Given the description of an element on the screen output the (x, y) to click on. 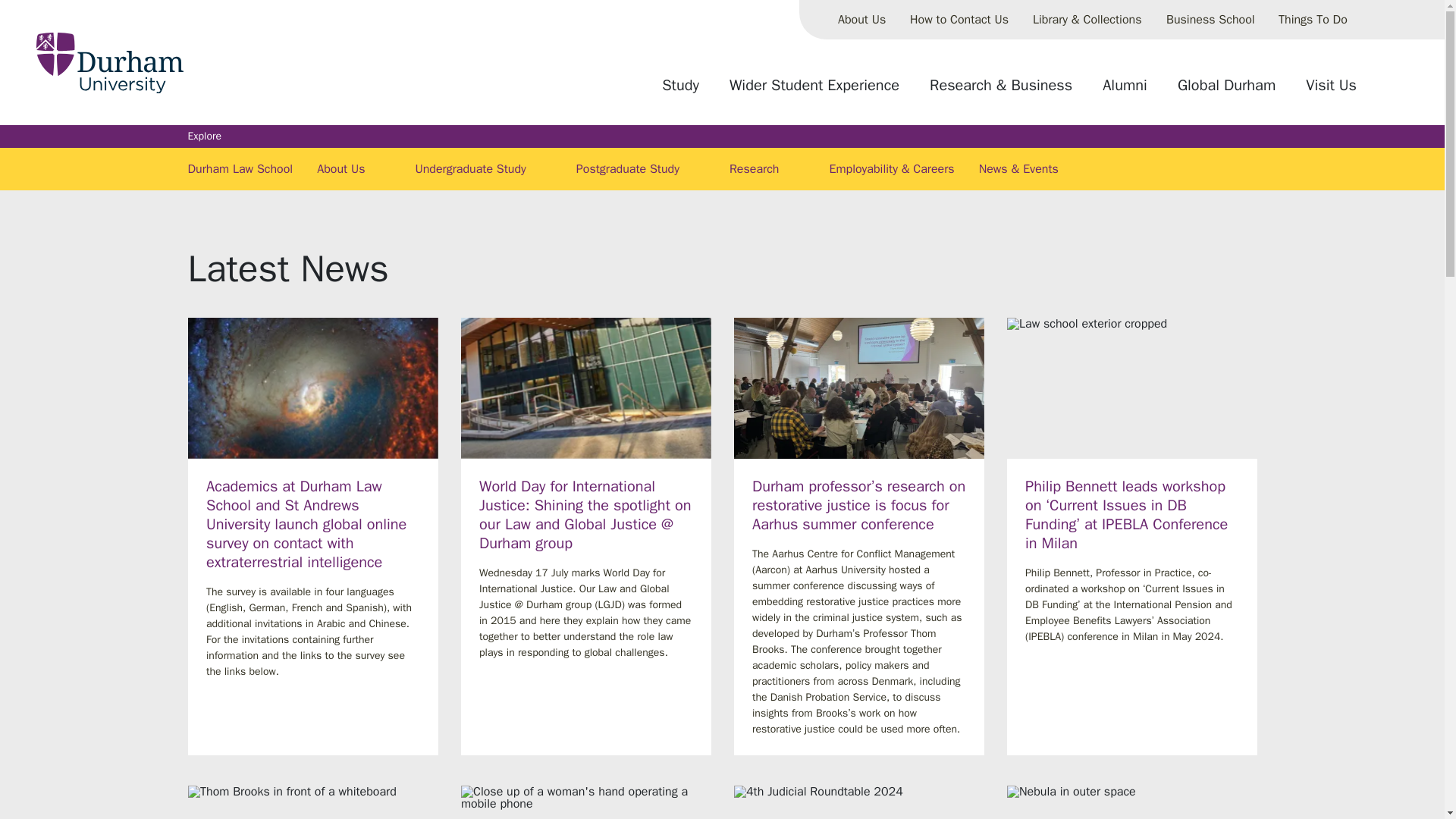
Study (680, 91)
Alumni (1124, 91)
Wider Student Experience (814, 91)
How to Contact Us (959, 19)
About Us (861, 19)
Global Durham (1226, 91)
Business School (1210, 19)
Visit Us (1331, 91)
Things To Do (1312, 19)
